Given the description of an element on the screen output the (x, y) to click on. 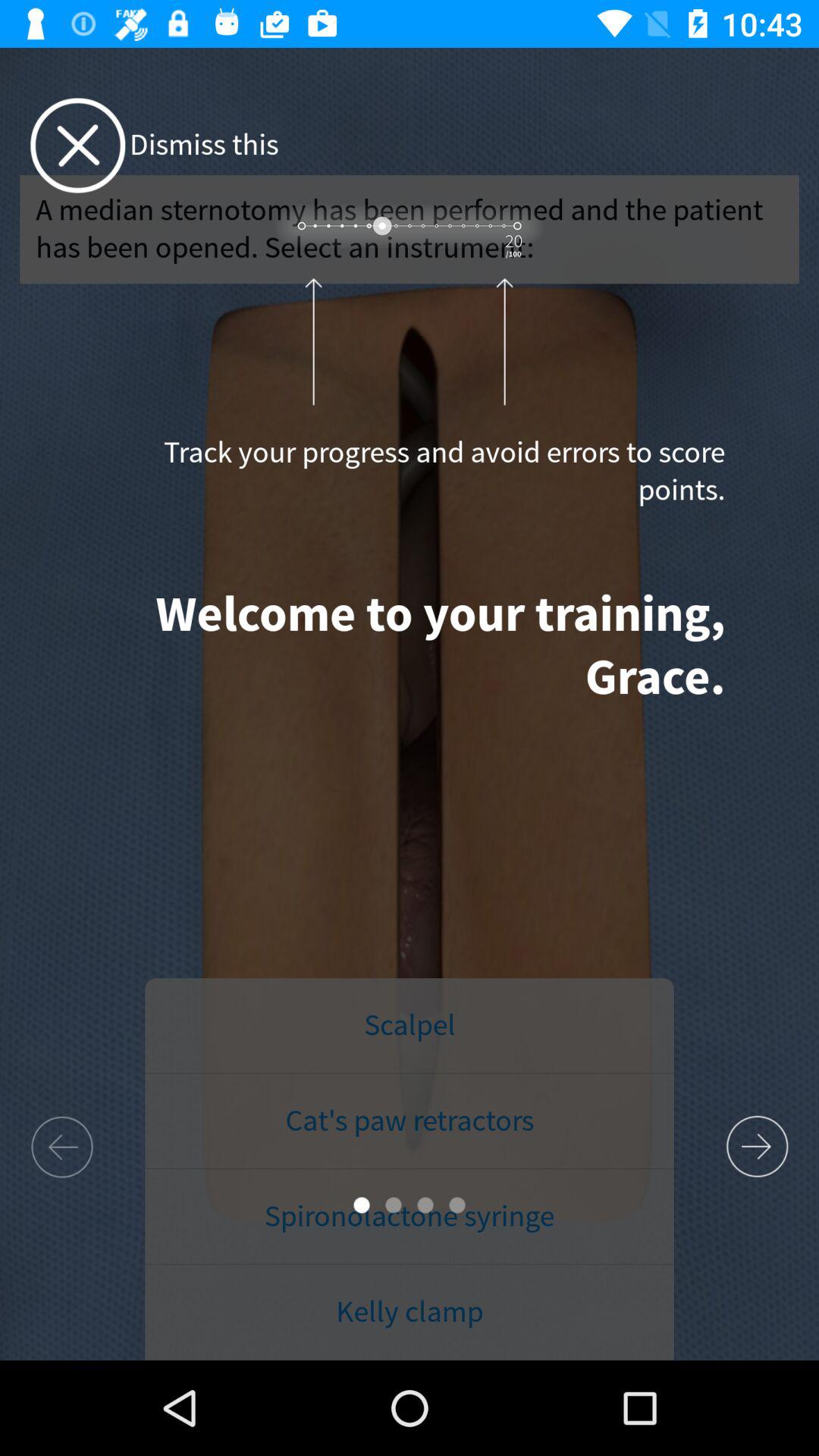
swipe until the kelly clamp (409, 1312)
